Given the description of an element on the screen output the (x, y) to click on. 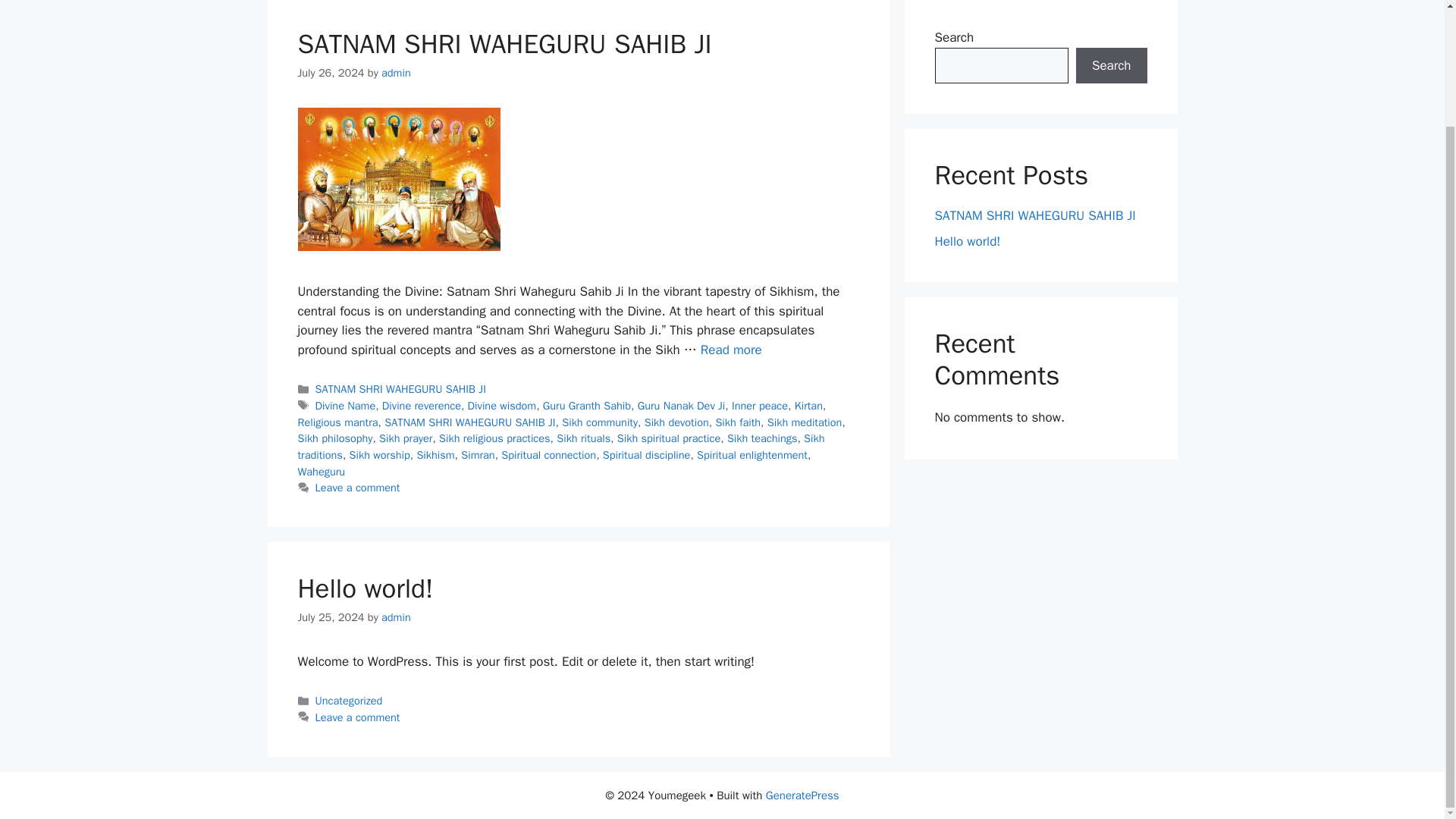
Sikh meditation (805, 422)
Sikh worship (379, 454)
Divine wisdom (502, 405)
View all posts by admin (395, 72)
SATNAM SHRI WAHEGURU SAHIB JI (400, 388)
Sikh prayer (405, 438)
Guru Nanak Dev Ji (681, 405)
Divine Name (345, 405)
SATNAM SHRI WAHEGURU SAHIB JI (469, 422)
Religious mantra (337, 422)
SATNAM SHRI WAHEGURU SAHIB JI (730, 349)
Sikh devotion (677, 422)
Sikh philosophy (334, 438)
Sikh community (599, 422)
Divine reverence (421, 405)
